Given the description of an element on the screen output the (x, y) to click on. 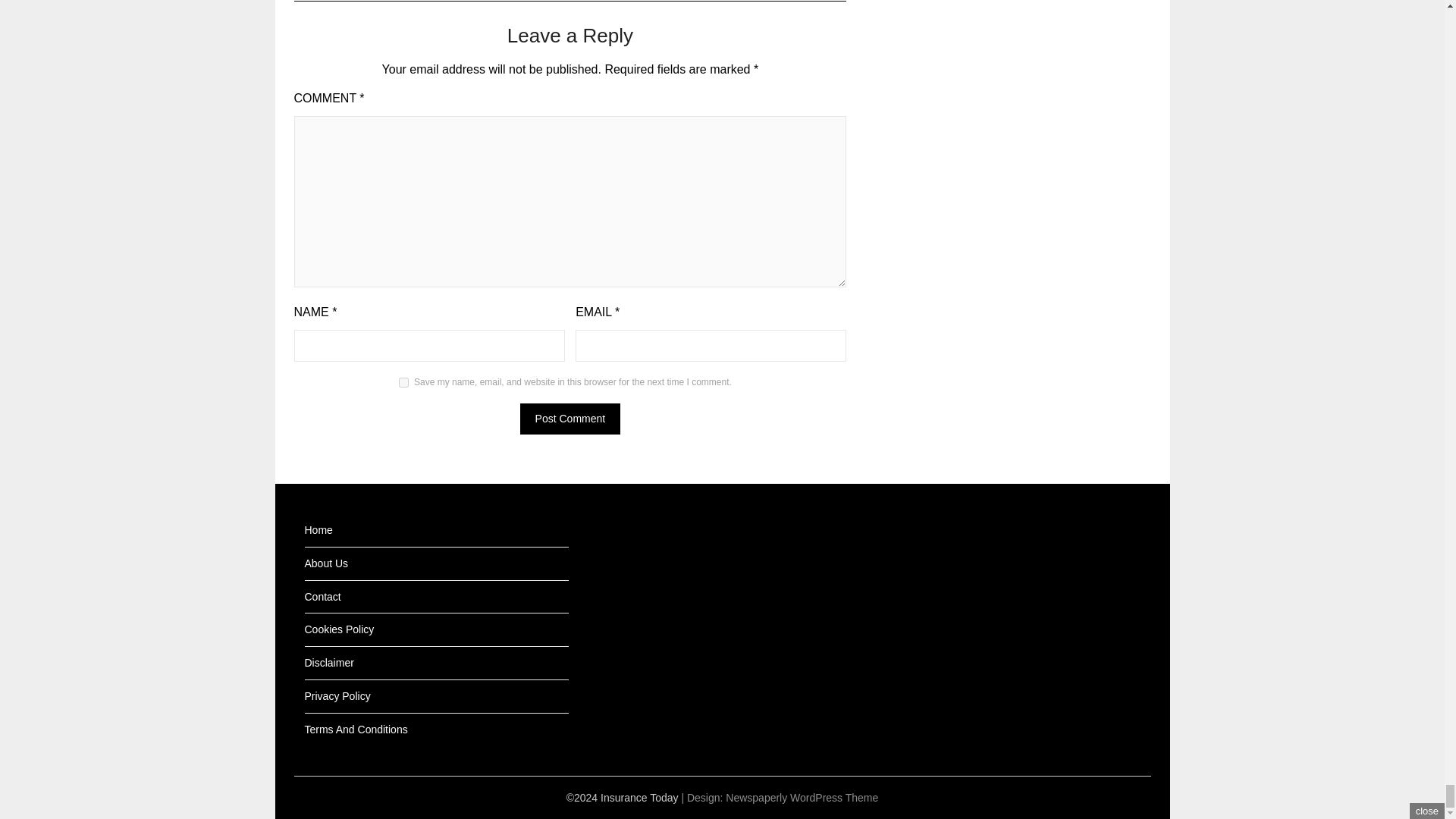
Post Comment (570, 418)
yes (403, 382)
